Given the description of an element on the screen output the (x, y) to click on. 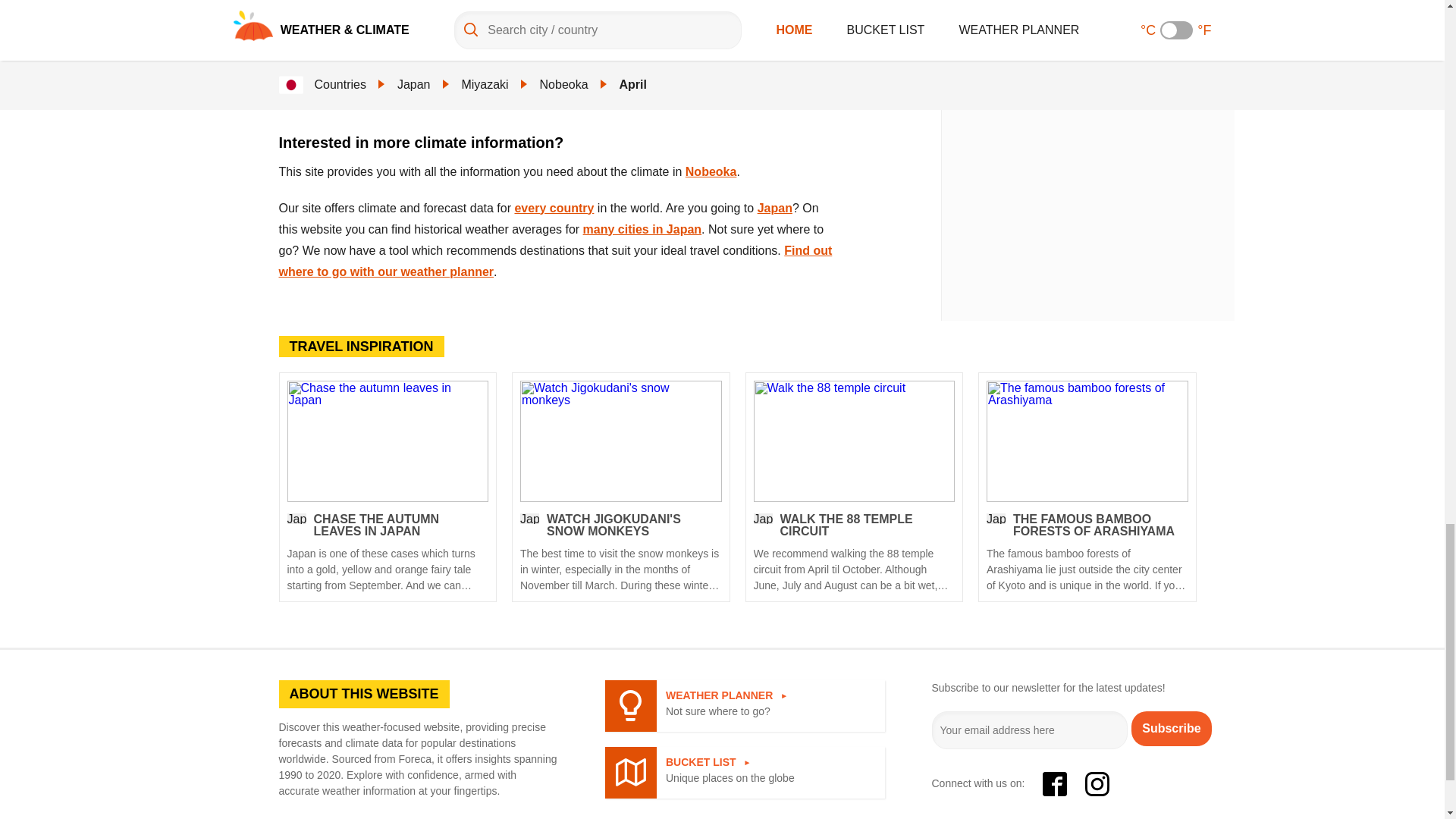
Watch Jigokudani's snow monkeys (620, 552)
The famous bamboo forests of Arashiyama  (1087, 441)
Walk the 88 temple circuit (854, 441)
Chase the autumn leaves in Japan (386, 441)
Walk the 88 temple circuit (854, 552)
The famous bamboo forests of Arashiyama  (1087, 552)
Subscribe (1171, 728)
Watch Jigokudani's snow monkeys (620, 441)
Chase the autumn leaves in Japan (386, 552)
